Given the description of an element on the screen output the (x, y) to click on. 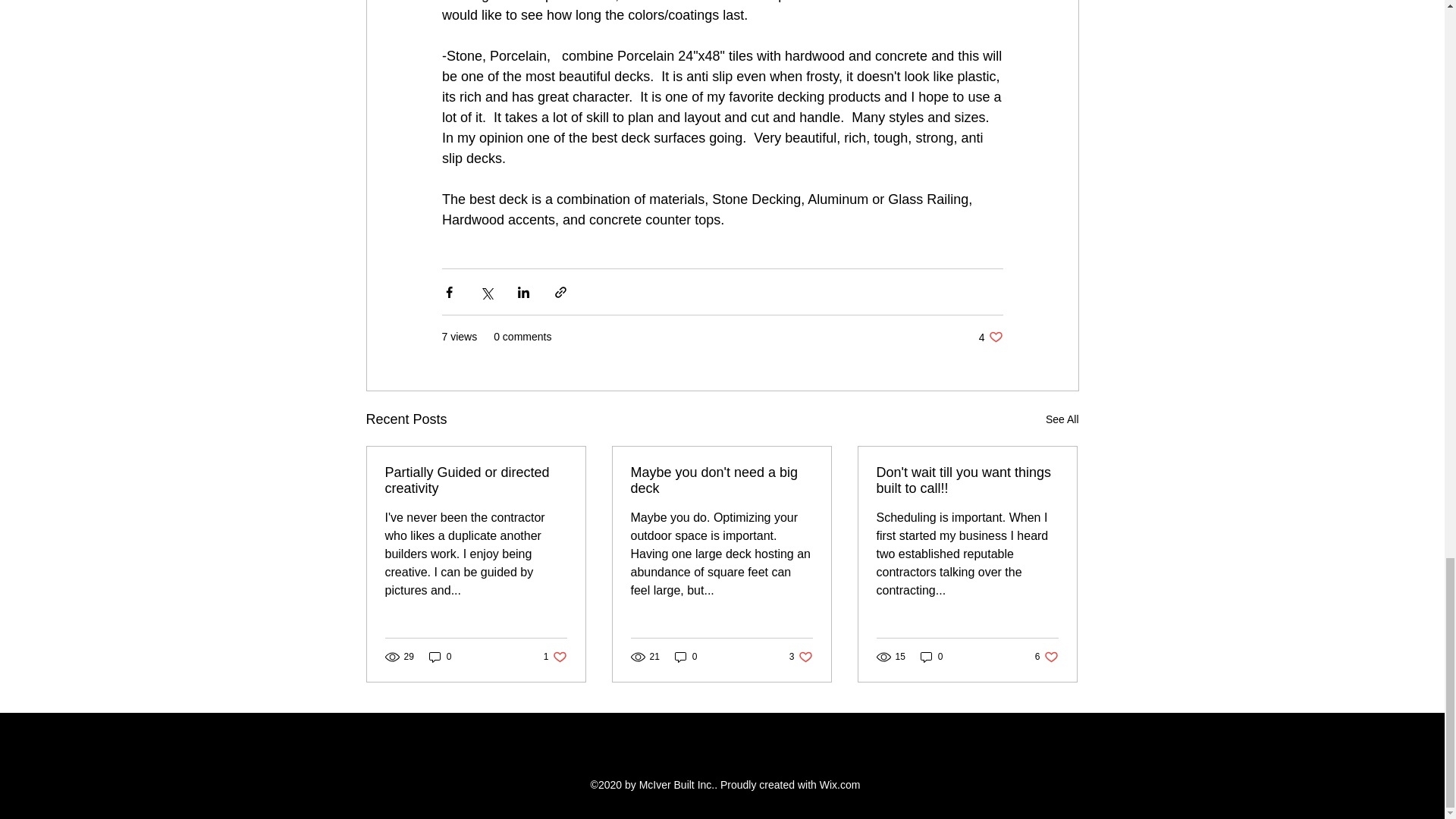
See All (555, 657)
0 (1046, 657)
Partially Guided or directed creativity (1061, 419)
Don't wait till you want things built to call!! (931, 657)
0 (800, 657)
0 (990, 336)
